Given the description of an element on the screen output the (x, y) to click on. 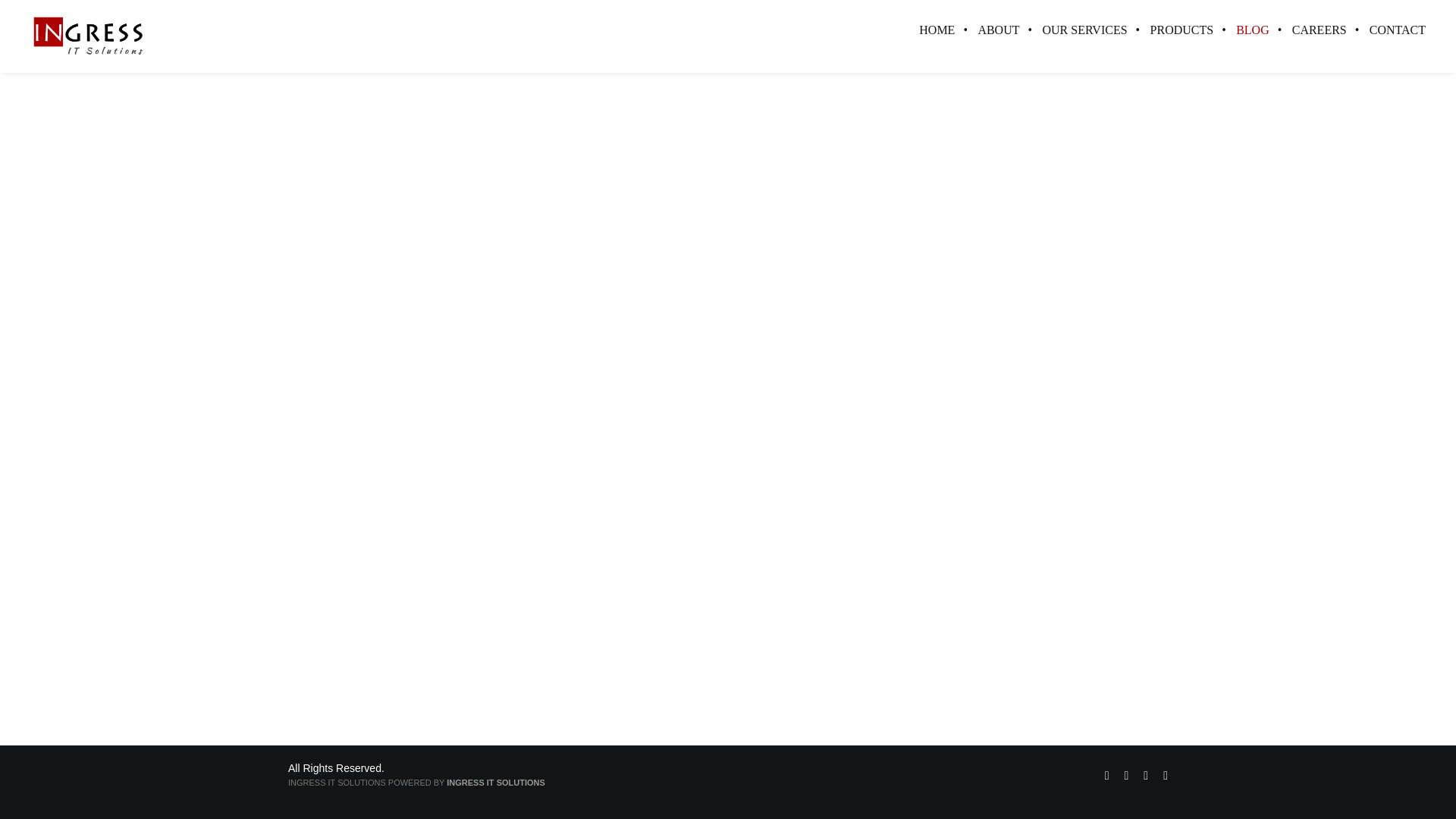
CONTACT (1391, 30)
PRODUCTS (1181, 30)
CAREERS (1319, 30)
ABOUT (998, 30)
HOME (936, 30)
OUR SERVICES (1084, 30)
BLOG (1252, 30)
